Given the description of an element on the screen output the (x, y) to click on. 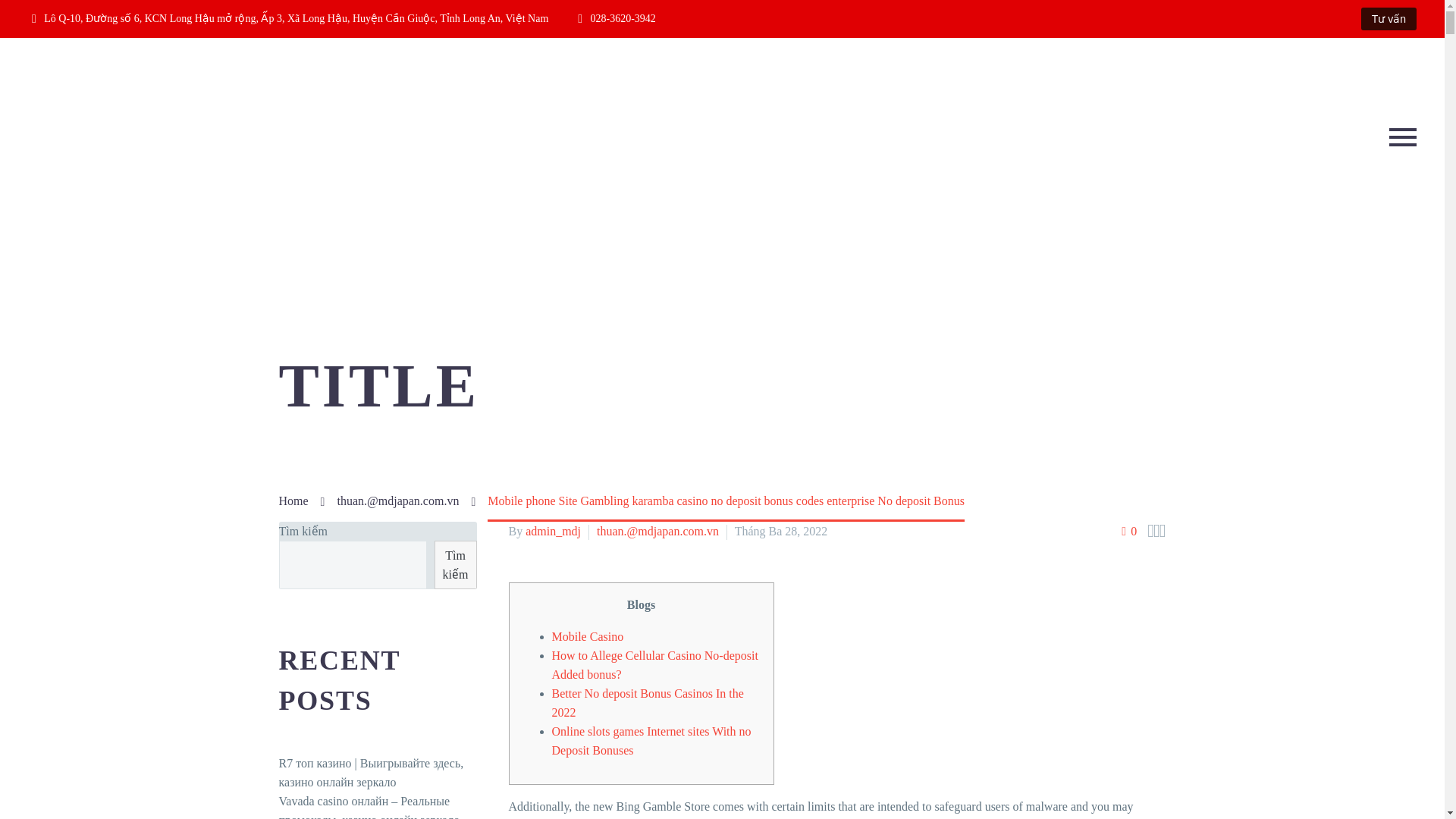
Home (293, 500)
Primary Menu (1402, 137)
028-3620-3942 (623, 18)
